Given the description of an element on the screen output the (x, y) to click on. 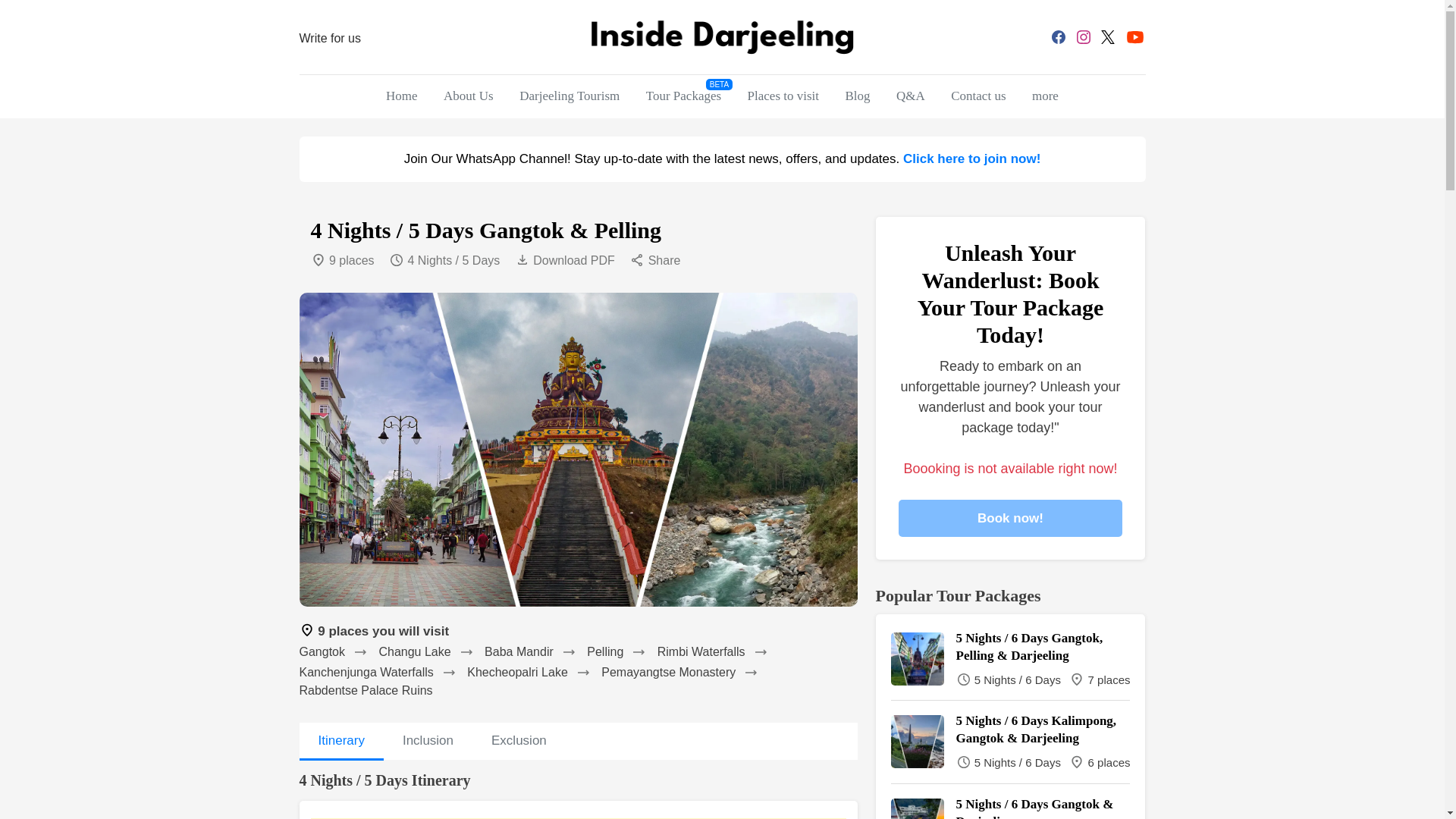
more (1045, 96)
Follow Inside Darjeeling on Instagram (1083, 37)
Places to visit (782, 96)
Follow Inside Darjeeling on Facebook (1058, 37)
About Us (468, 96)
Home (401, 96)
Subscribe Inside Darjeeling on YouTube (1134, 36)
Contact us (977, 96)
Tour Packages (683, 96)
Darjeeling Tourism (569, 96)
Write for us (329, 38)
Follow Inside Darjeeling on Twitter (1107, 37)
Blog (858, 96)
